Given the description of an element on the screen output the (x, y) to click on. 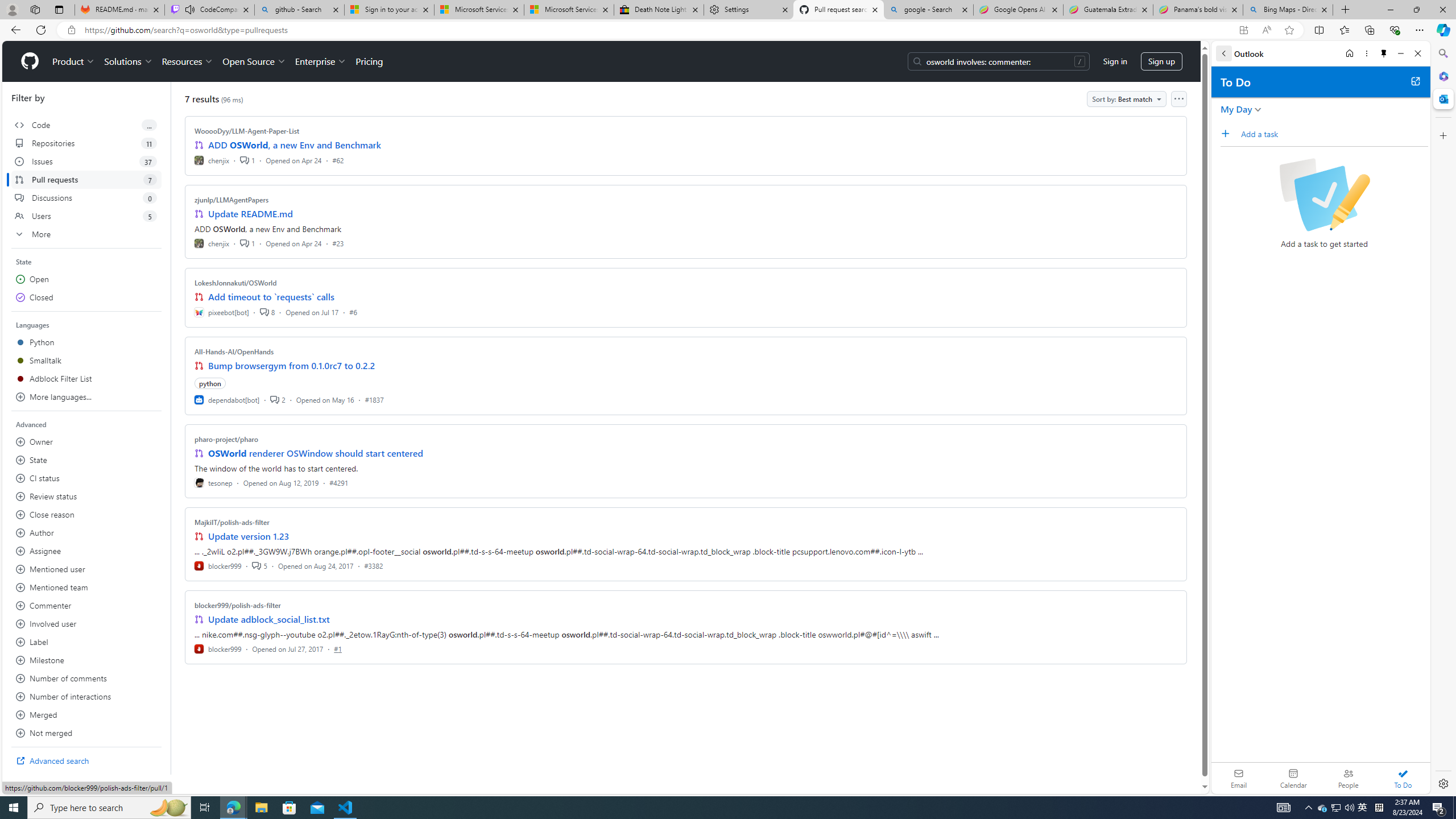
Open Source (254, 60)
Product (74, 60)
zjunlp/LLMAgentPapers (232, 199)
LokeshJonnakuti/OSWorld (235, 282)
To Do (1402, 777)
